Given the description of an element on the screen output the (x, y) to click on. 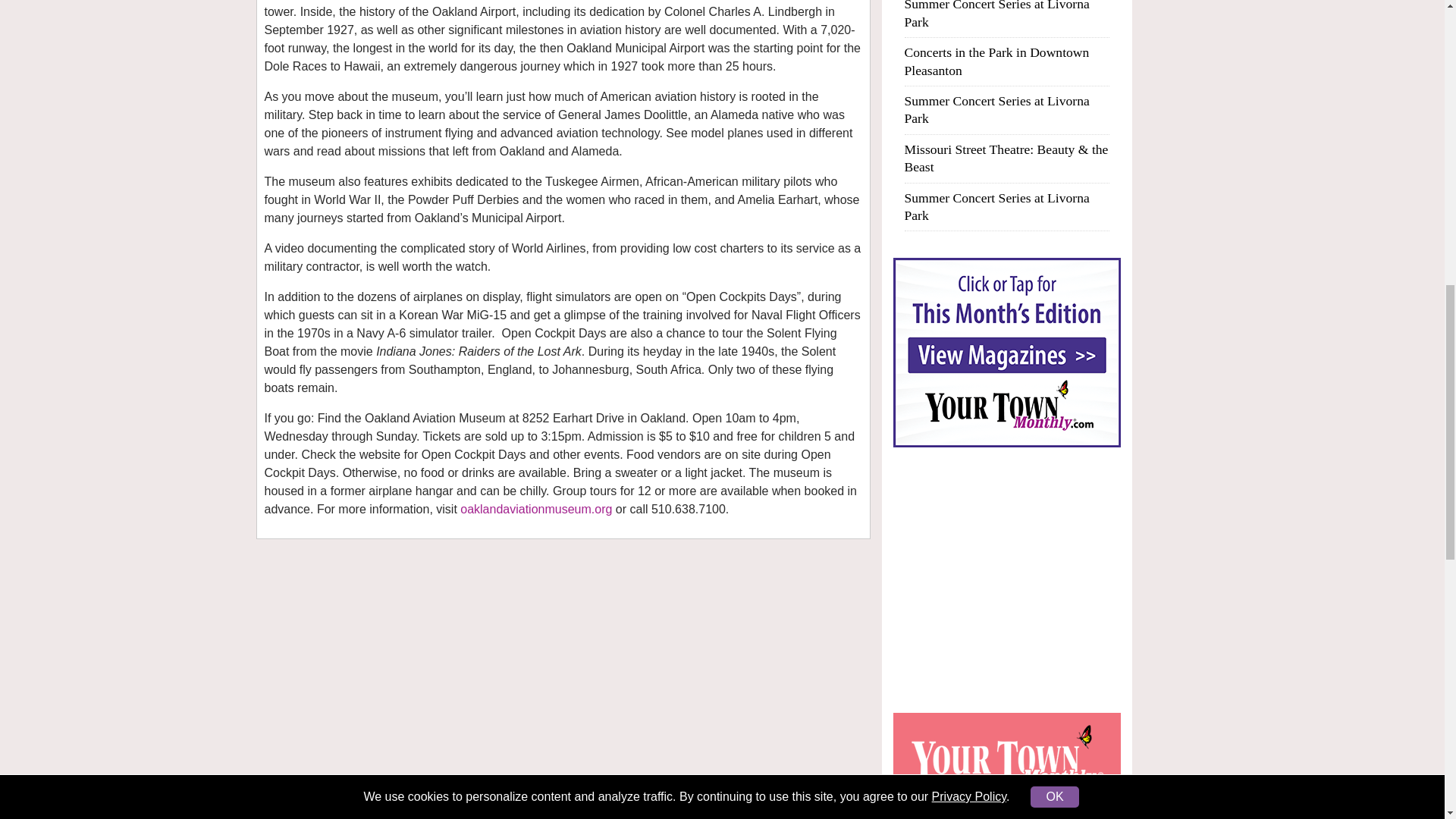
3rd party ad content (1007, 579)
